Given the description of an element on the screen output the (x, y) to click on. 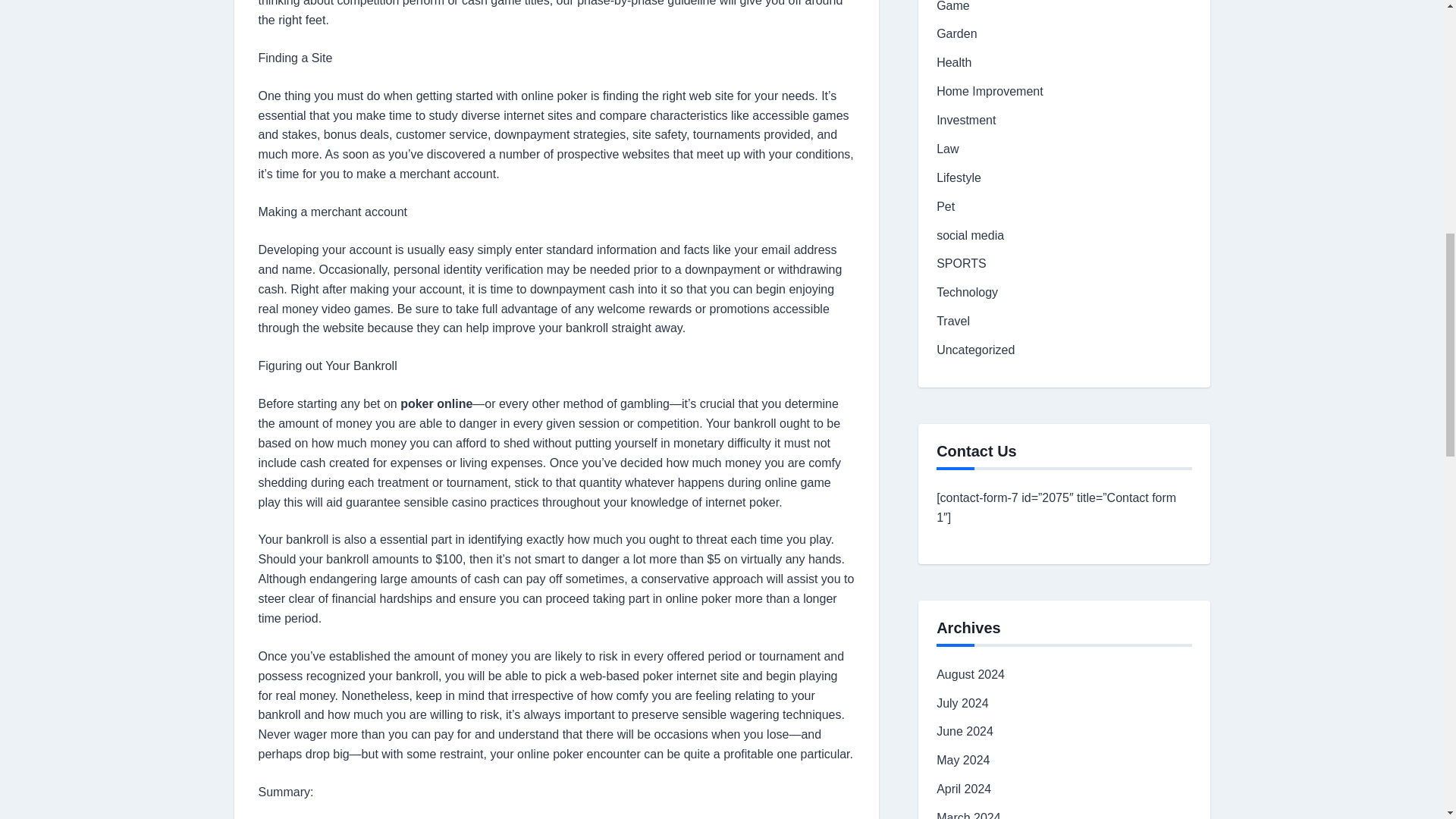
social media (970, 235)
Home Improvement (989, 91)
Health (953, 62)
Lifestyle (958, 177)
Uncategorized (975, 349)
Garden (956, 33)
Pet (945, 205)
Investment (965, 119)
Game (952, 6)
Travel (952, 320)
